Given the description of an element on the screen output the (x, y) to click on. 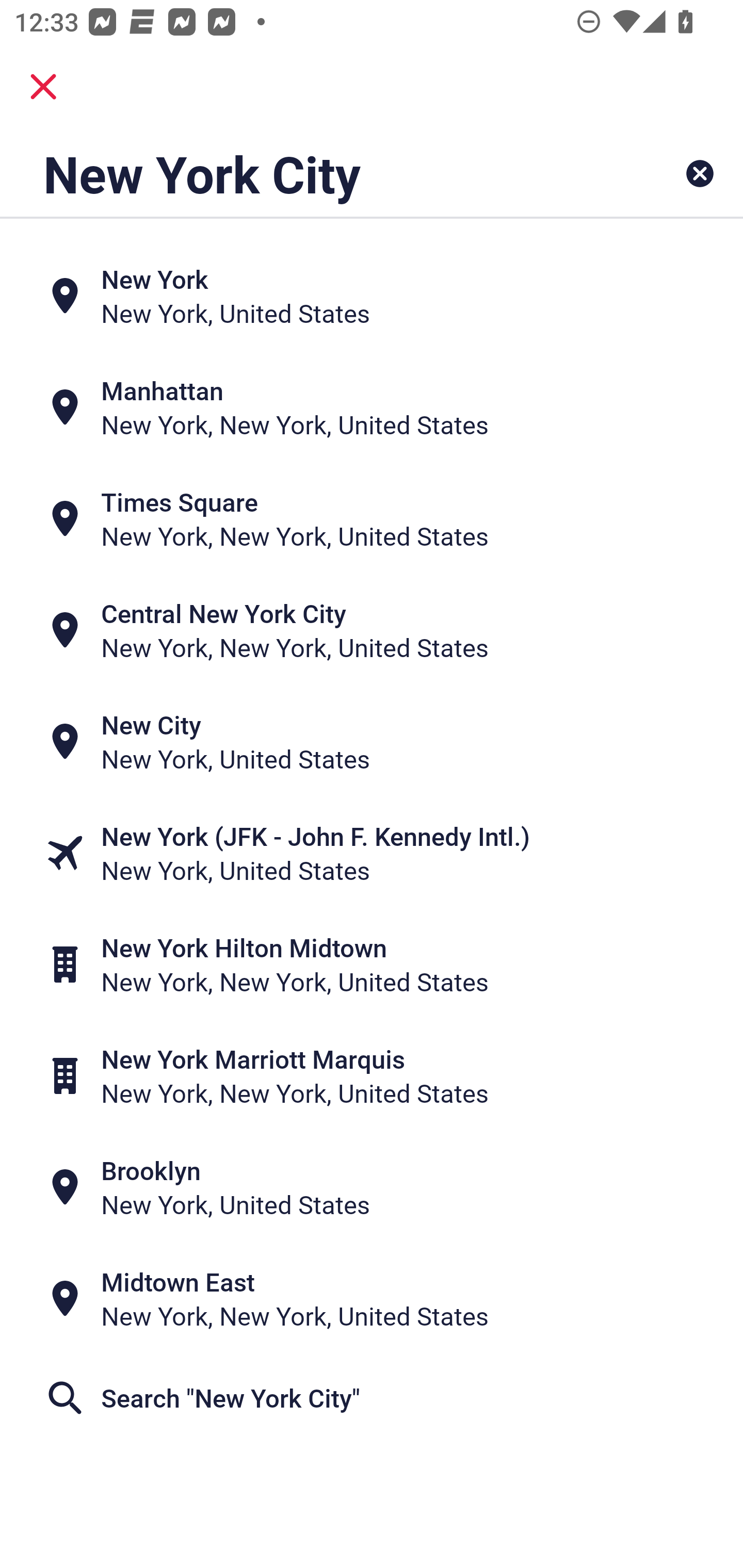
close. (43, 86)
Clear (699, 173)
New York City (306, 173)
New York New York, United States (371, 295)
Manhattan New York, New York, United States (371, 406)
Times Square New York, New York, United States (371, 517)
New City New York, United States (371, 742)
Brooklyn New York, United States (371, 1187)
Midtown East New York, New York, United States (371, 1298)
Search "New York City" (371, 1397)
